Given the description of an element on the screen output the (x, y) to click on. 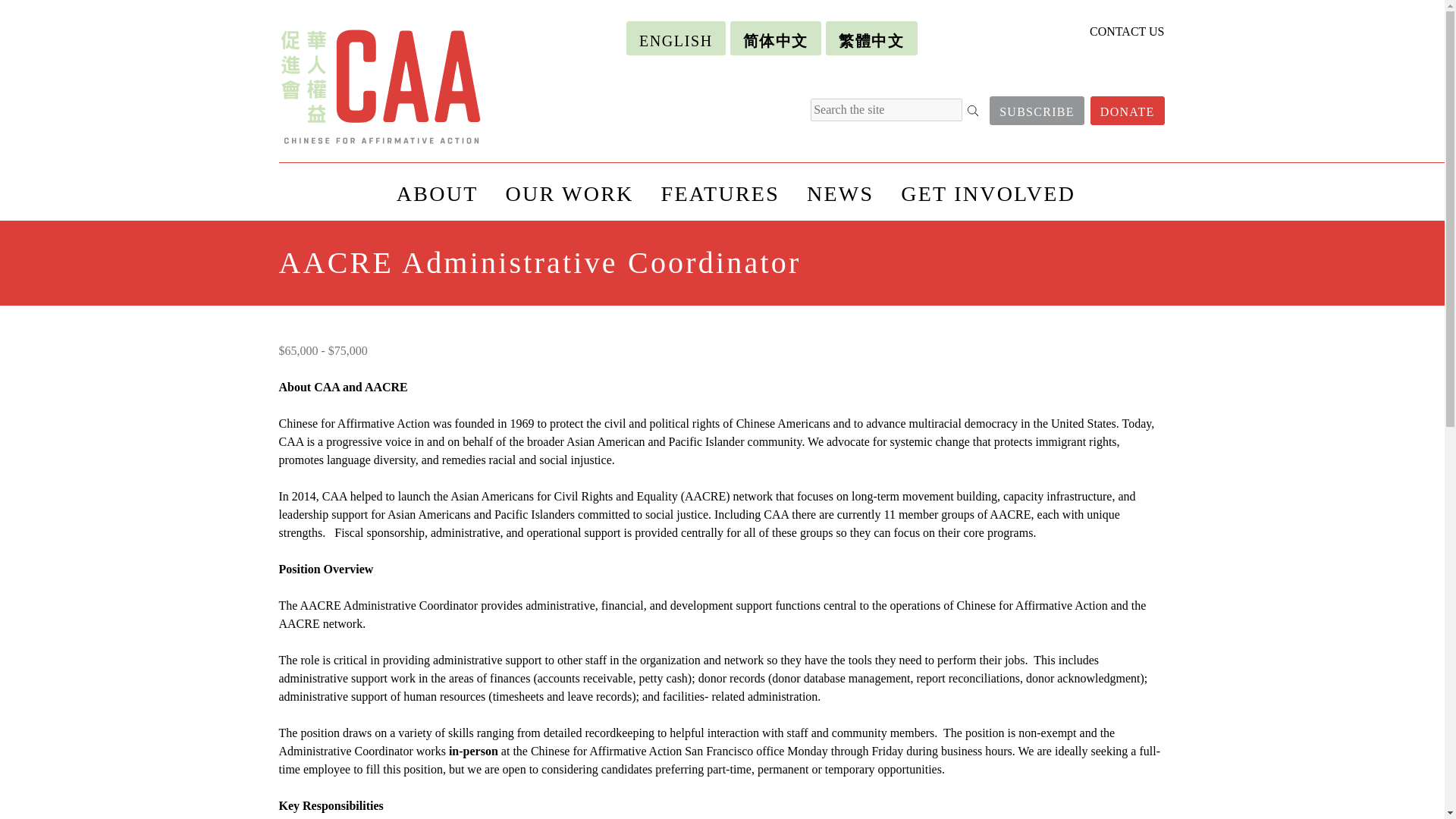
DONATE (1127, 110)
SUBSCRIBE (1037, 110)
CAA (387, 86)
CONTACT US (1126, 31)
OUR WORK (569, 191)
FEATURES (720, 191)
ABOUT (437, 191)
ENGLISH (675, 38)
